Given the description of an element on the screen output the (x, y) to click on. 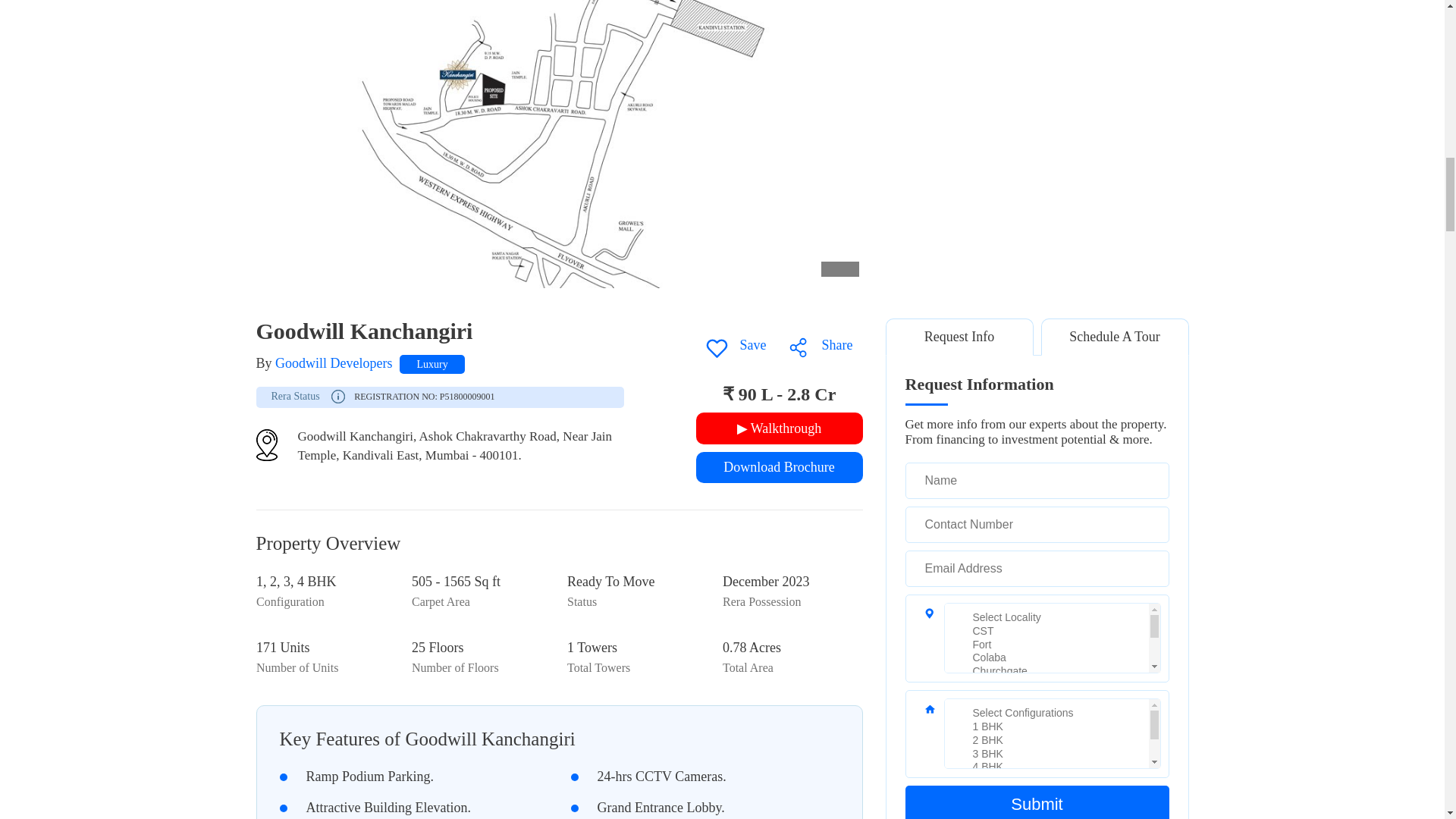
Save (734, 344)
Share (819, 344)
Download Brochure (779, 467)
Goodwill Developers (333, 363)
